Given the description of an element on the screen output the (x, y) to click on. 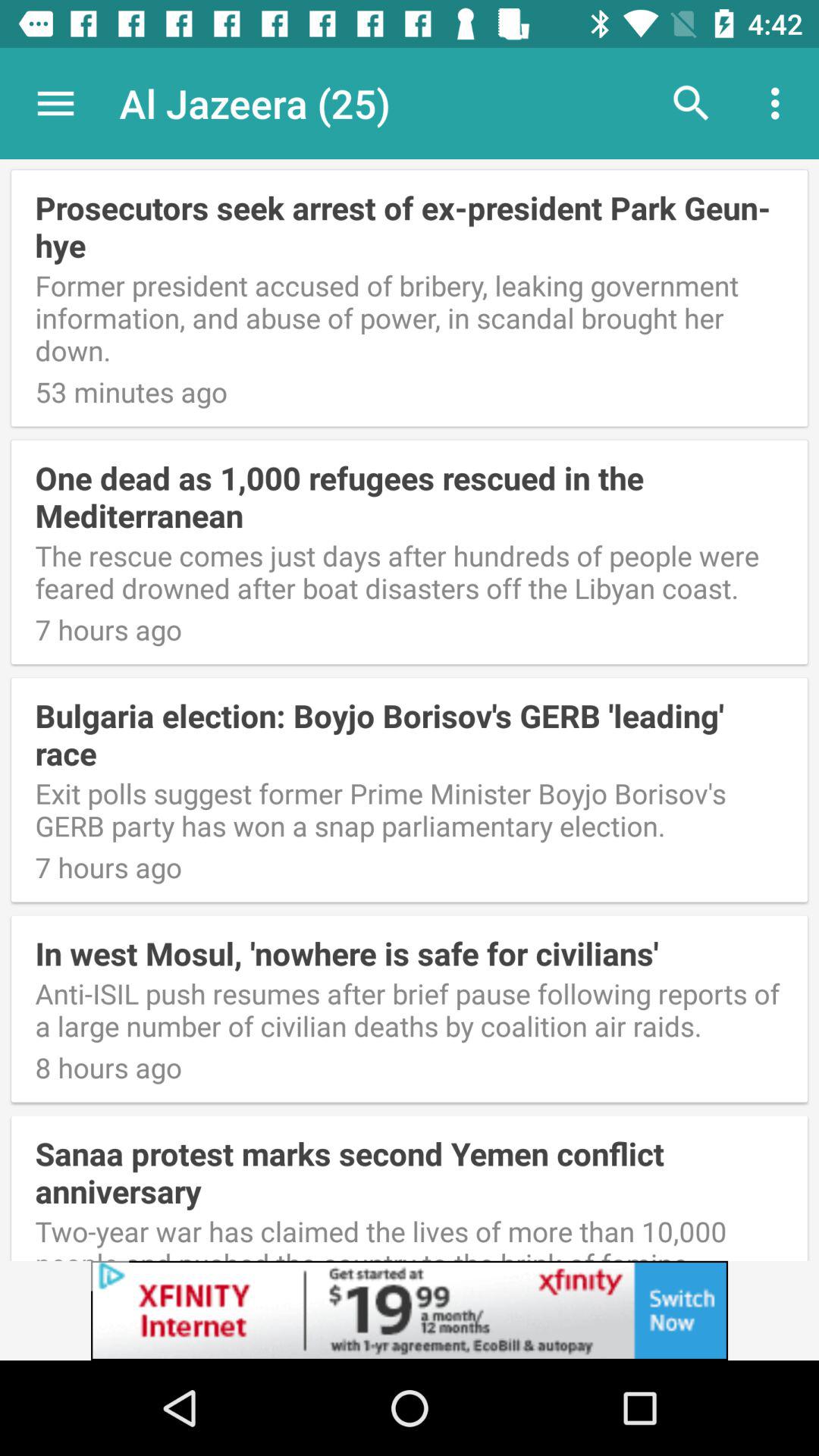
click for advertisement (409, 1310)
